Given the description of an element on the screen output the (x, y) to click on. 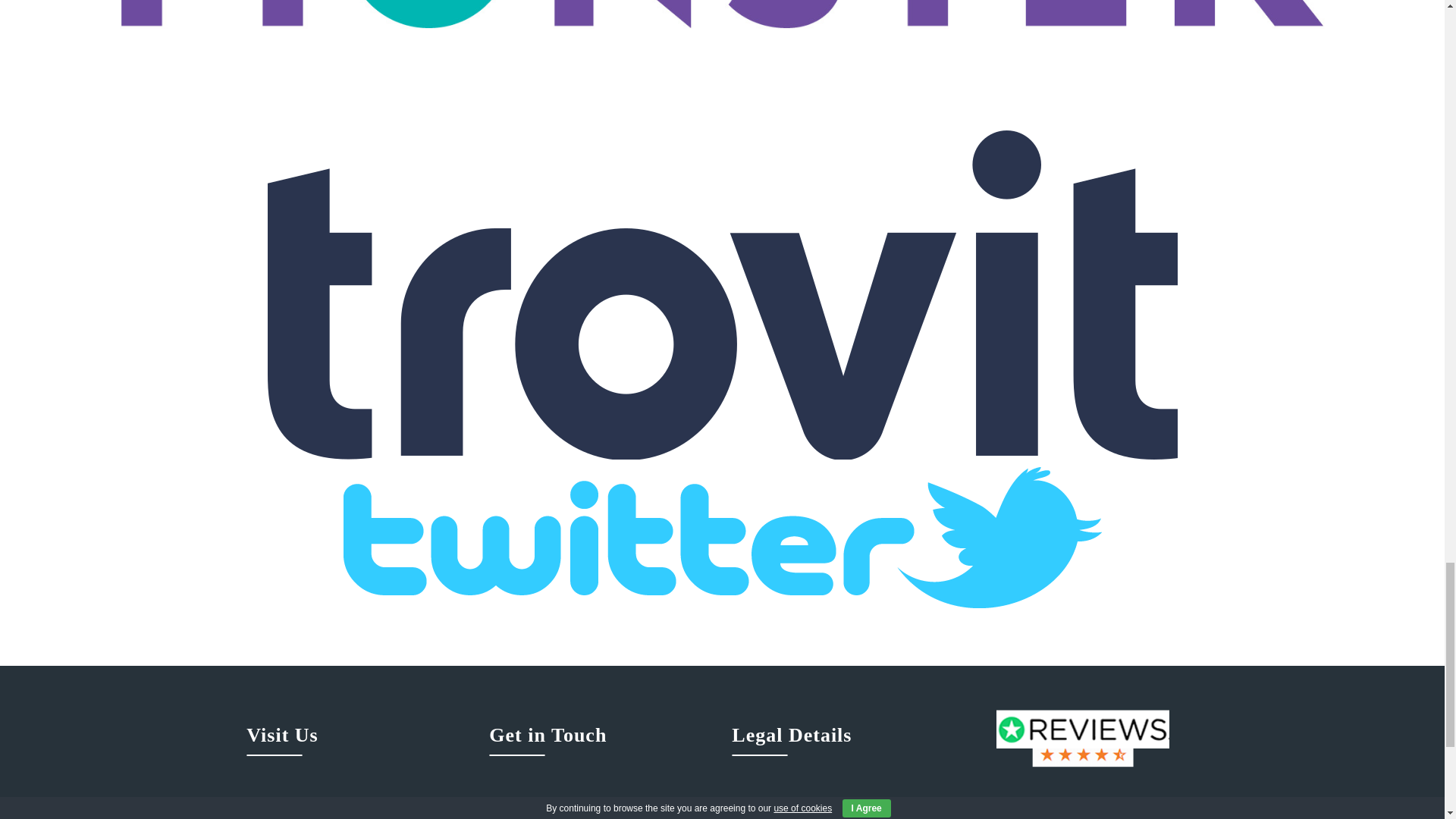
302 231 4768 (600, 809)
Privacy Policy (843, 809)
